Given the description of an element on the screen output the (x, y) to click on. 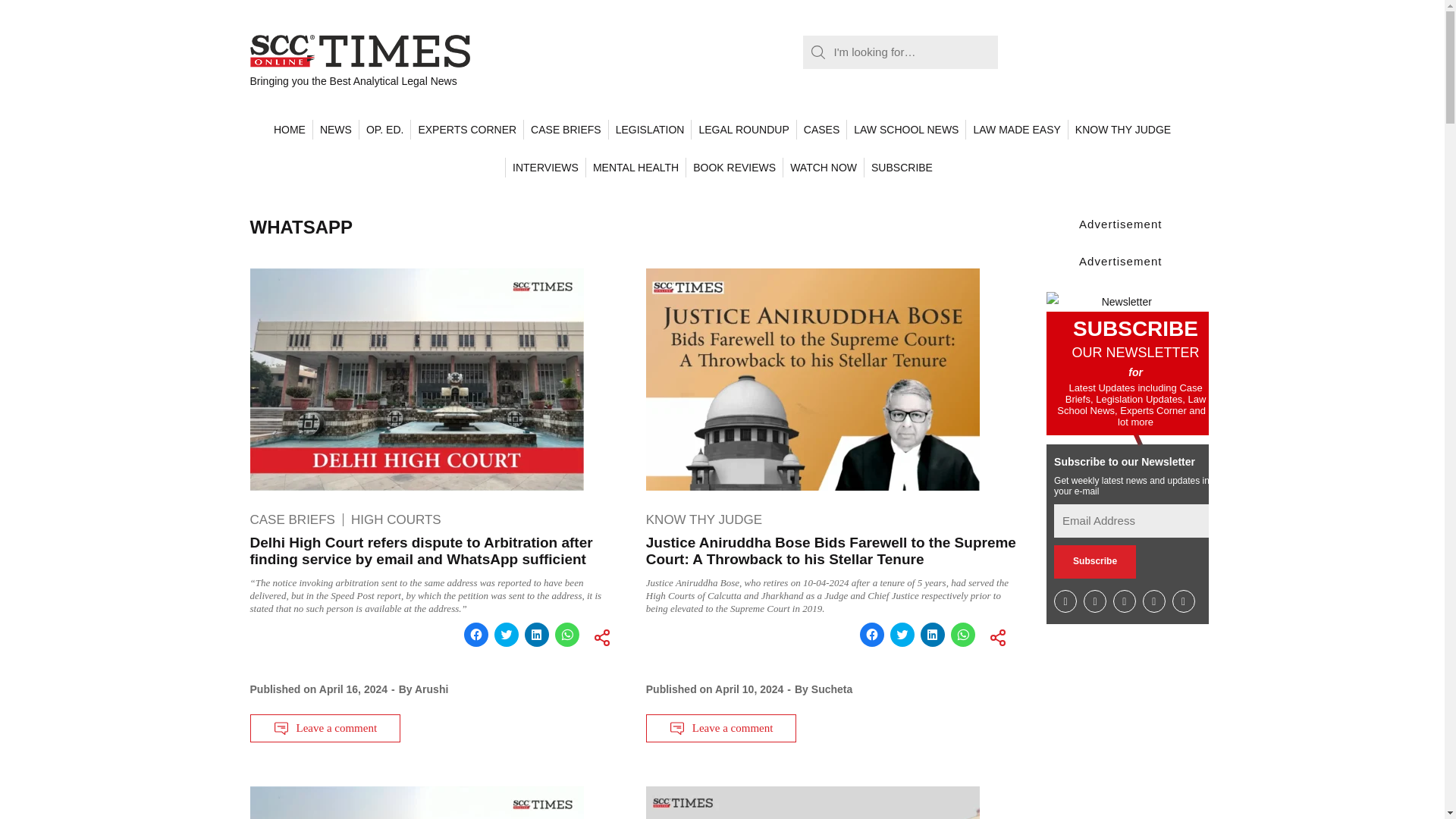
CASE BRIEFS (565, 129)
EXPERTS CORNER (466, 129)
Click to share on WhatsApp (566, 634)
NEWS (335, 129)
Click to share on Facebook (475, 634)
Subscribe (1094, 561)
Click to share on Twitter (506, 634)
Click to share on LinkedIn (536, 634)
OP. ED. (384, 129)
HOME (289, 129)
